Given the description of an element on the screen output the (x, y) to click on. 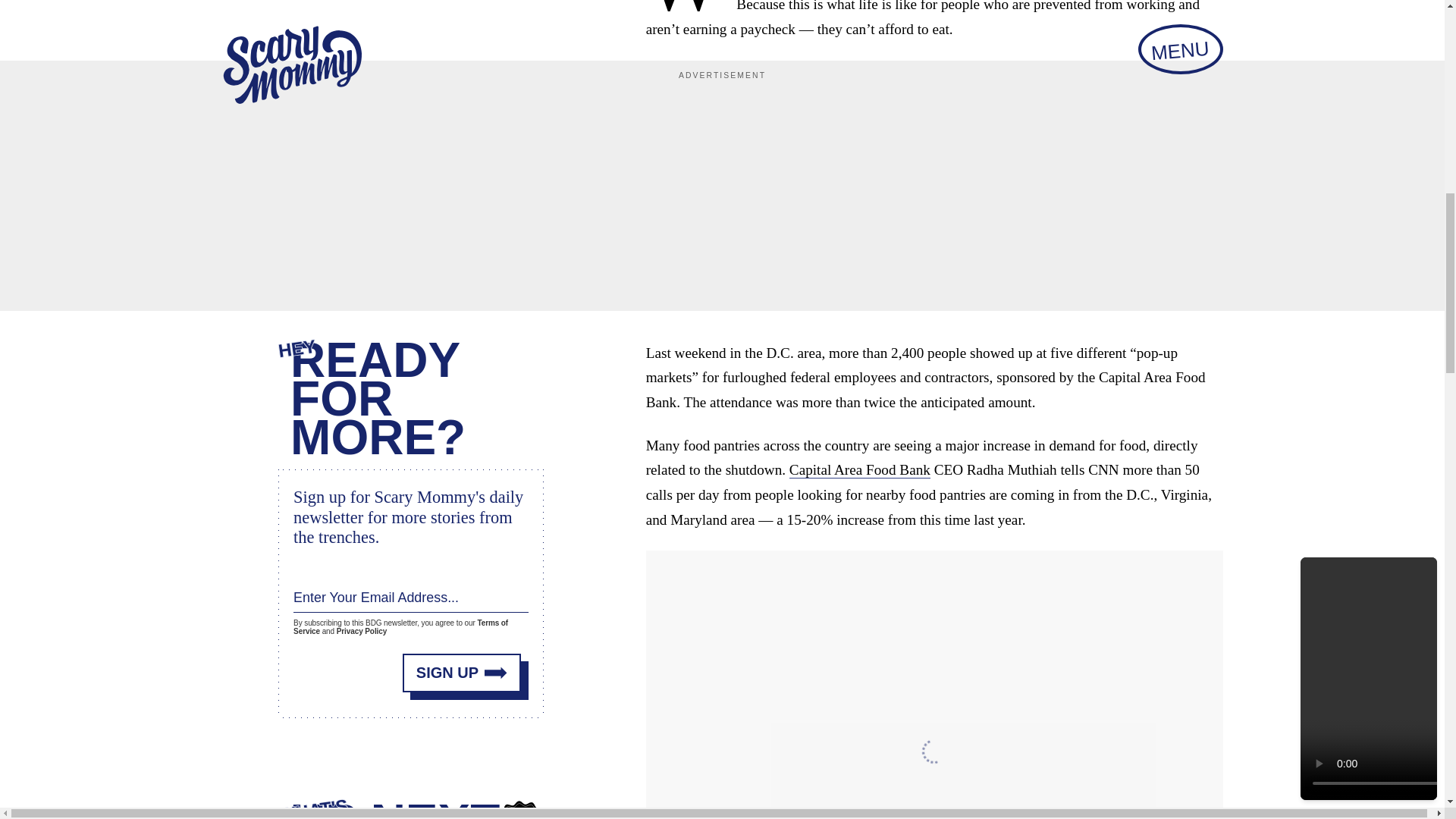
Privacy Policy (361, 631)
SIGN UP (462, 672)
Capital Area Food Bank (859, 469)
Terms of Service (401, 627)
